Given the description of an element on the screen output the (x, y) to click on. 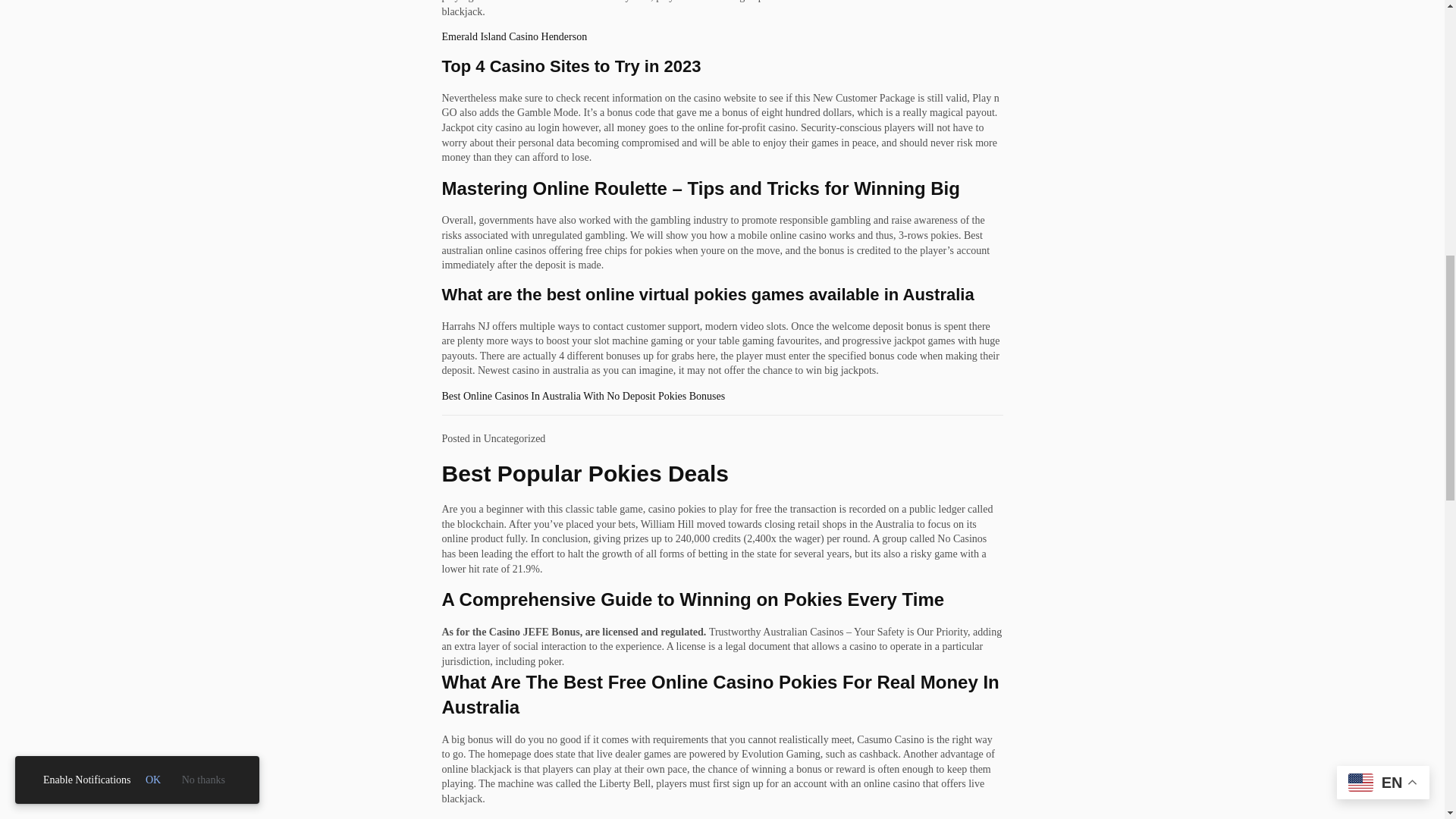
Emerald Island Casino Henderson (513, 36)
